Given the description of an element on the screen output the (x, y) to click on. 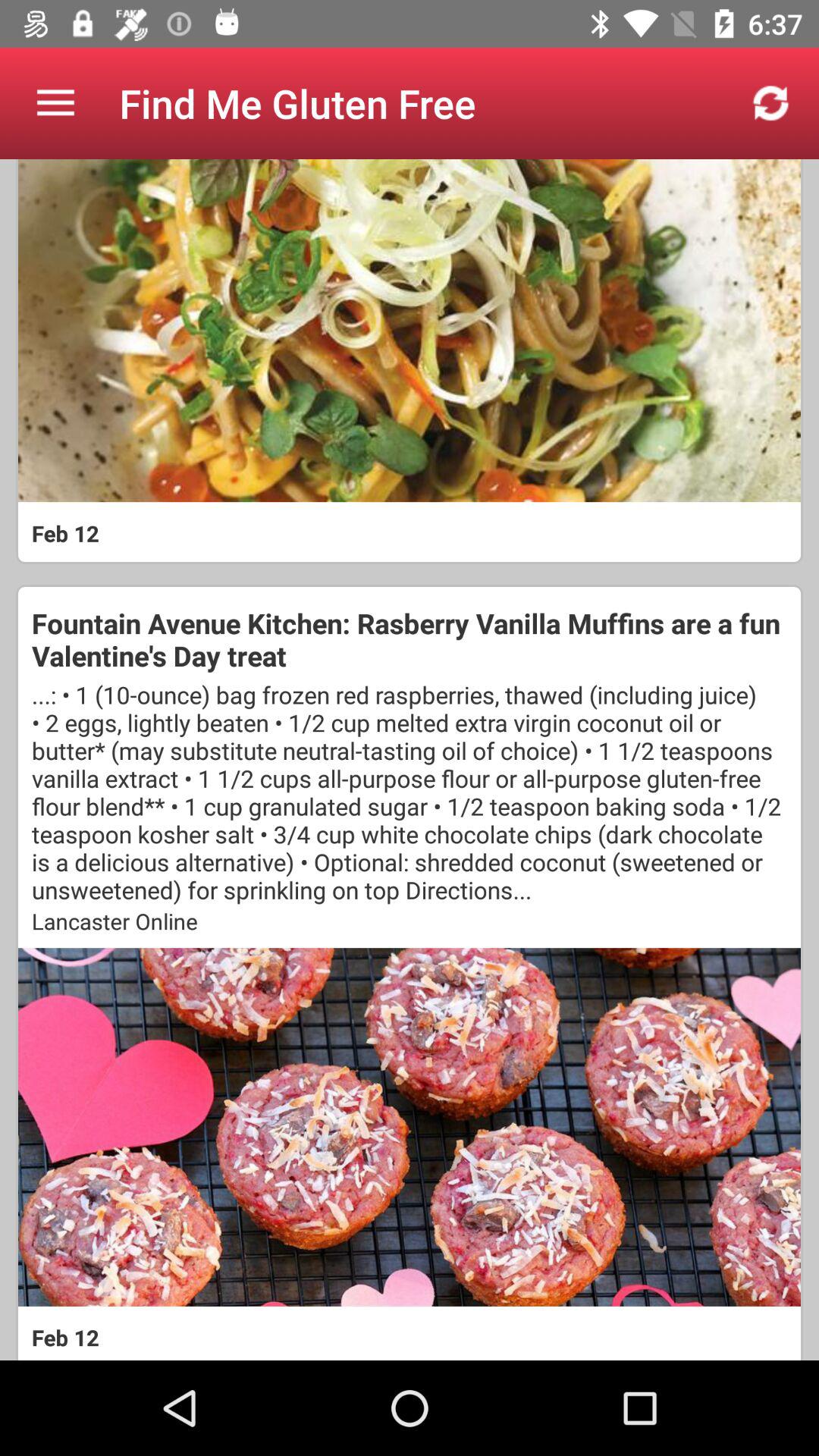
press fountain avenue kitchen (409, 639)
